Given the description of an element on the screen output the (x, y) to click on. 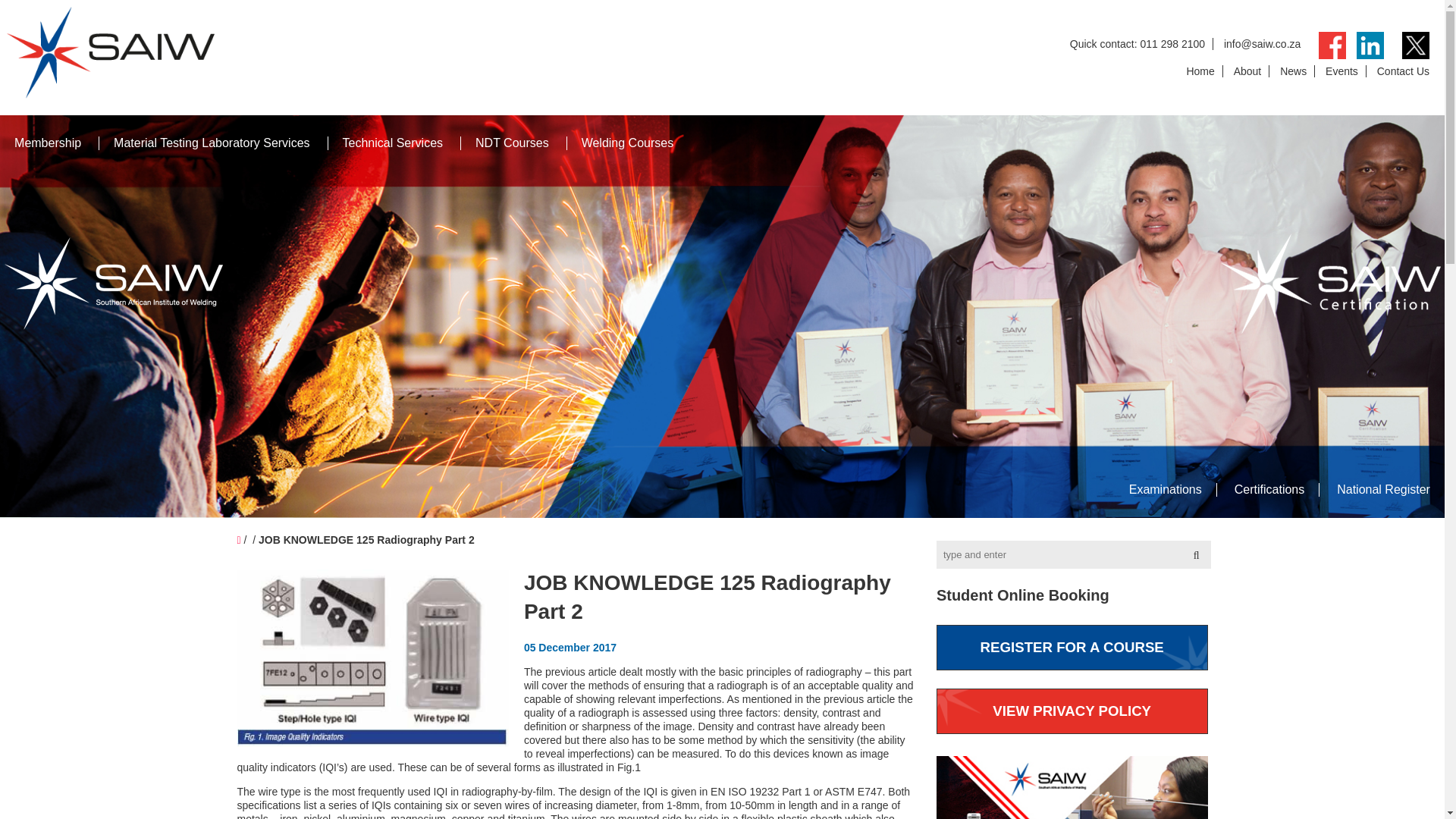
Membership (47, 142)
Material Testing Laboratory Services (211, 142)
NDT Courses (512, 142)
REGISTER FOR A COURSE (1072, 647)
Welding Courses (627, 142)
Quick contact: 011 298 2100 (1137, 43)
About (1247, 70)
Technical Services (393, 142)
Examinations (1165, 489)
Certifications (1269, 489)
